Given the description of an element on the screen output the (x, y) to click on. 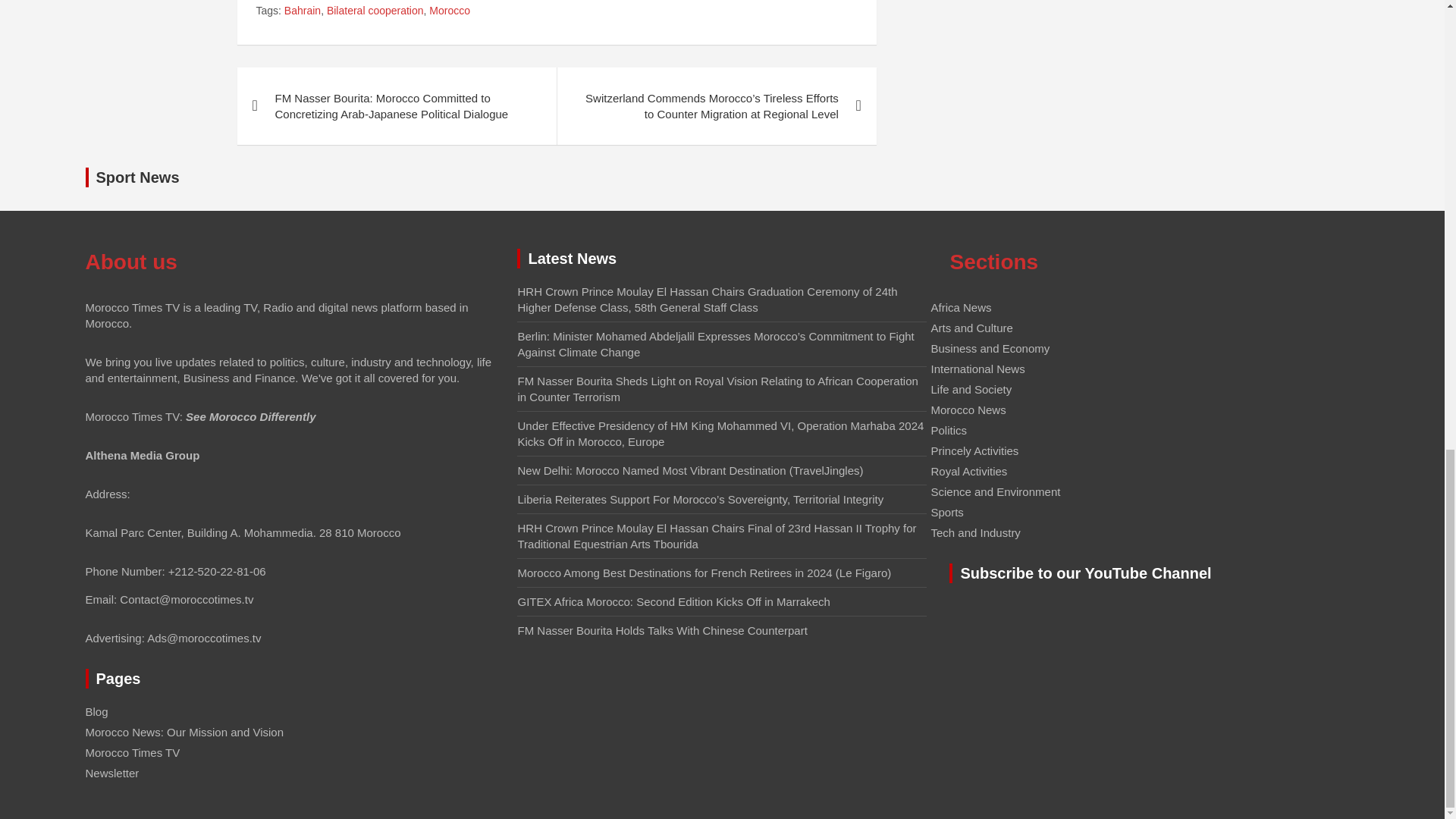
Bilateral cooperation (374, 11)
Morocco (449, 11)
Bahrain (301, 11)
